Given the description of an element on the screen output the (x, y) to click on. 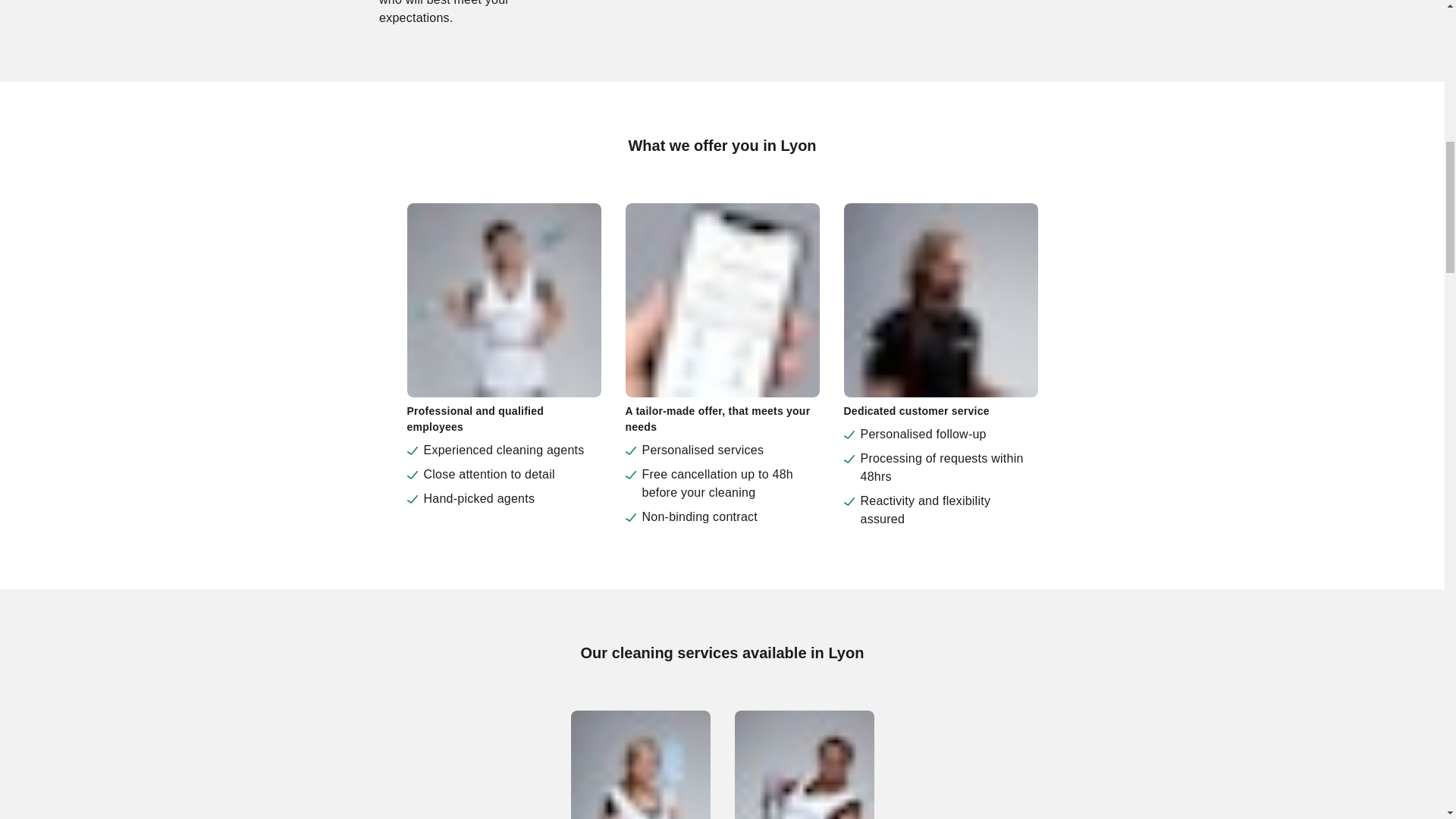
End-of-tenancy cleaning (803, 764)
Home cleaning (640, 764)
